Given the description of an element on the screen output the (x, y) to click on. 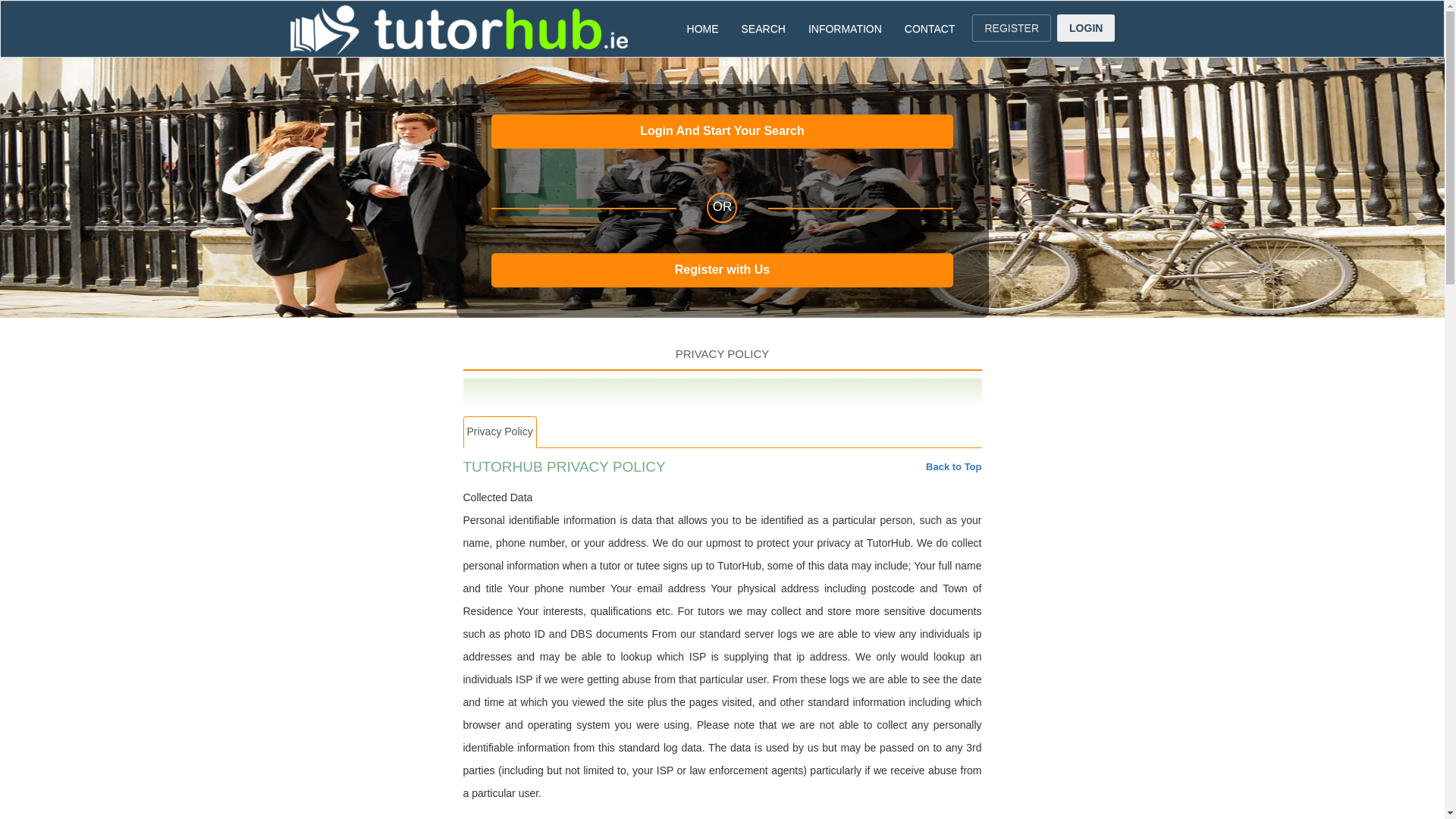
Tutors and Grinds Ireland (458, 29)
Back to Top (953, 466)
CONTACT (929, 28)
Register with Us (722, 270)
REGISTER (1011, 27)
HOME (702, 28)
INFORMATION (844, 28)
Privacy Policy (499, 431)
LOGIN (1086, 27)
SEARCH (763, 28)
